Given the description of an element on the screen output the (x, y) to click on. 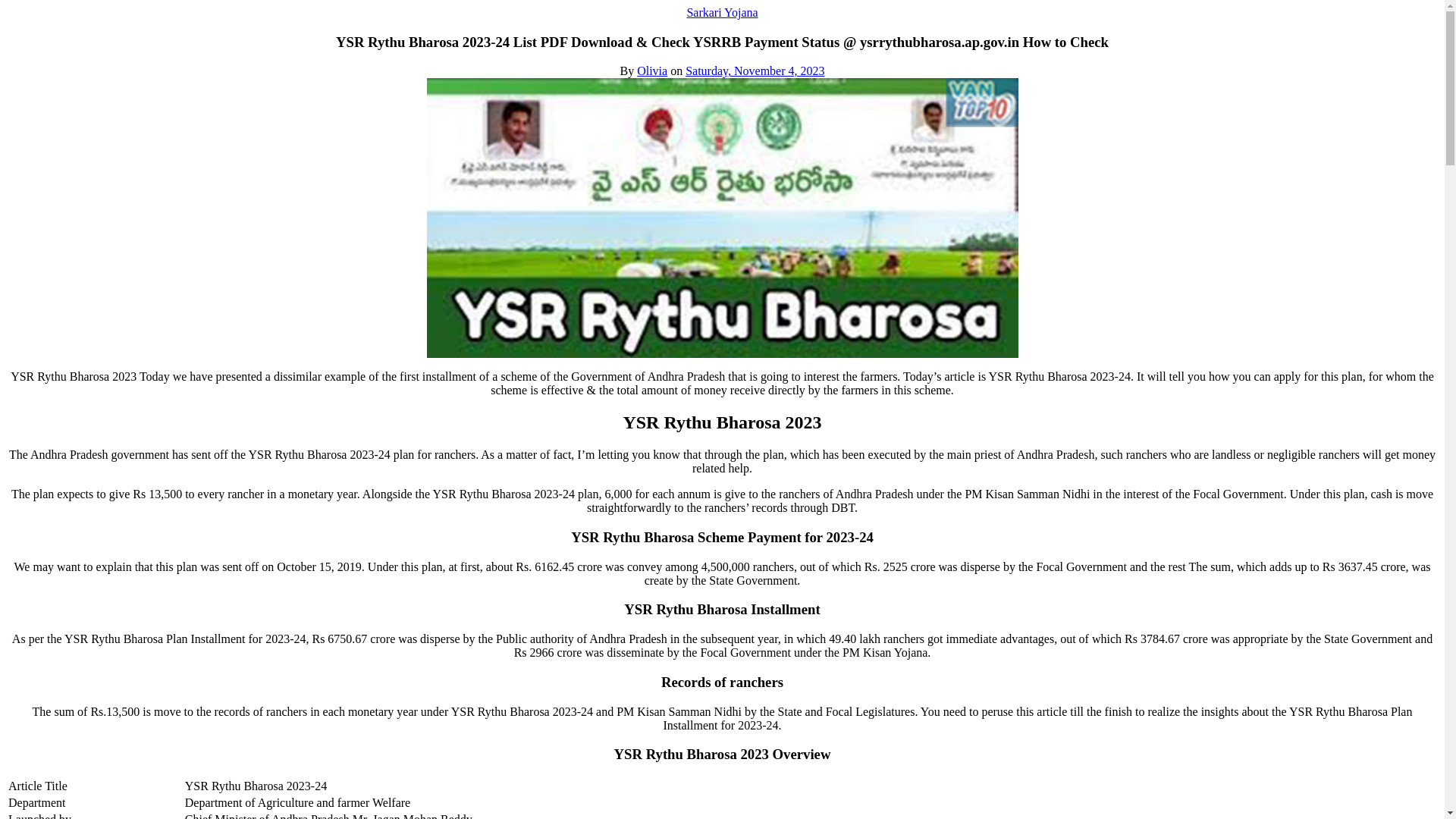
Olivia (651, 70)
Sarkari Yojana (721, 11)
Posts by Olivia (651, 70)
Saturday, November 4, 2023 (754, 70)
